Given the description of an element on the screen output the (x, y) to click on. 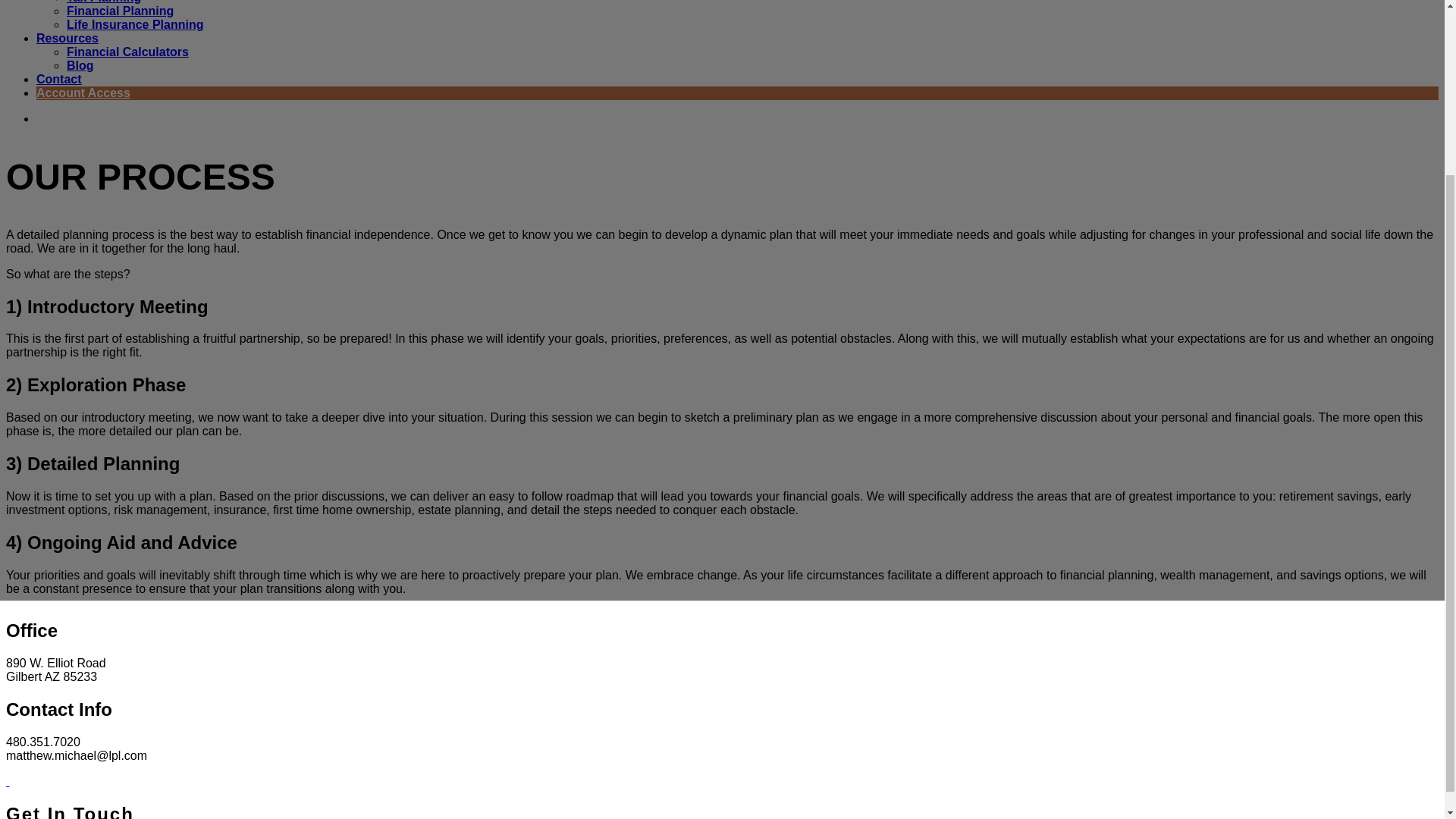
Financial Planning (119, 10)
Life Insurance Planning (134, 24)
Tax Planning (103, 2)
Account Access (83, 92)
Contact (58, 78)
Blog (80, 65)
Resources (67, 38)
Financial Calculators (127, 51)
